Given the description of an element on the screen output the (x, y) to click on. 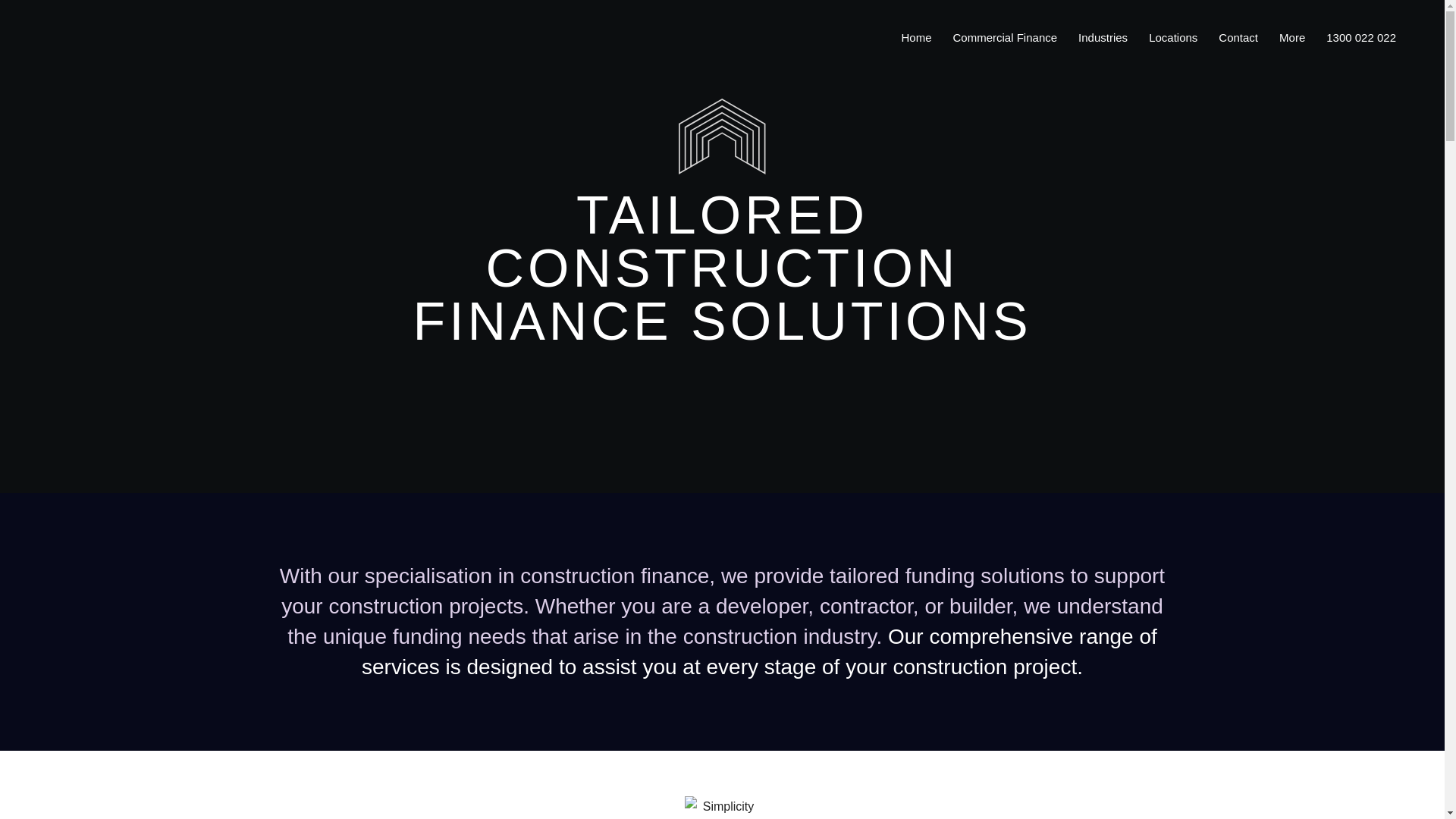
Commercial Finance (1005, 37)
More (1292, 37)
Contact (1238, 37)
Industries (1102, 37)
Home (916, 37)
Locations (1173, 37)
1300 022 022 (1361, 37)
